Given the description of an element on the screen output the (x, y) to click on. 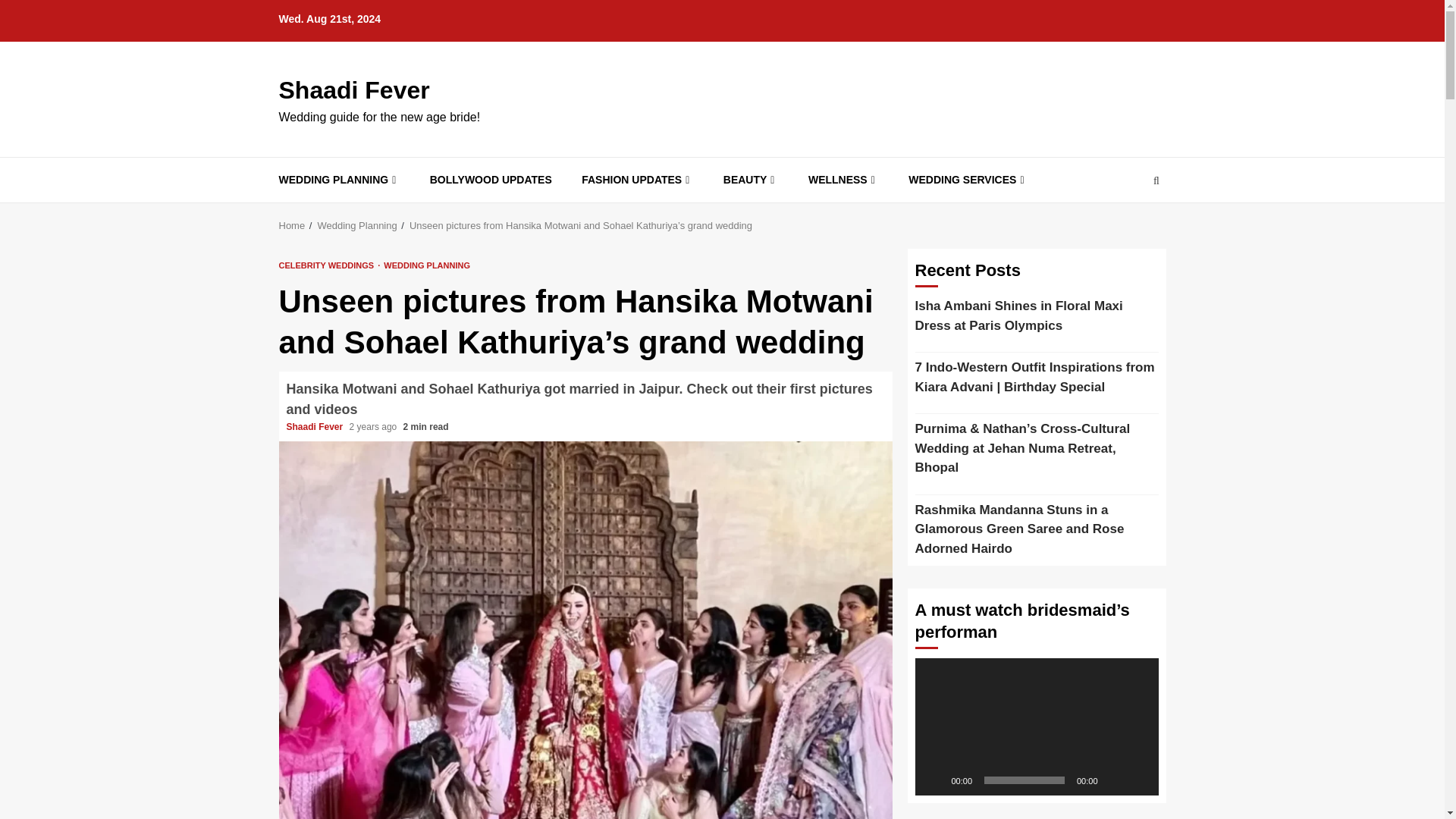
CELEBRITY WEDDINGS (329, 265)
WELLNESS (843, 179)
Search (1126, 225)
WEDDING PLANNING (427, 265)
Mute (1114, 780)
Home (292, 225)
Wedding Planning (356, 225)
Shaadi Fever (316, 426)
BEAUTY (750, 179)
FASHION UPDATES (636, 179)
